Given the description of an element on the screen output the (x, y) to click on. 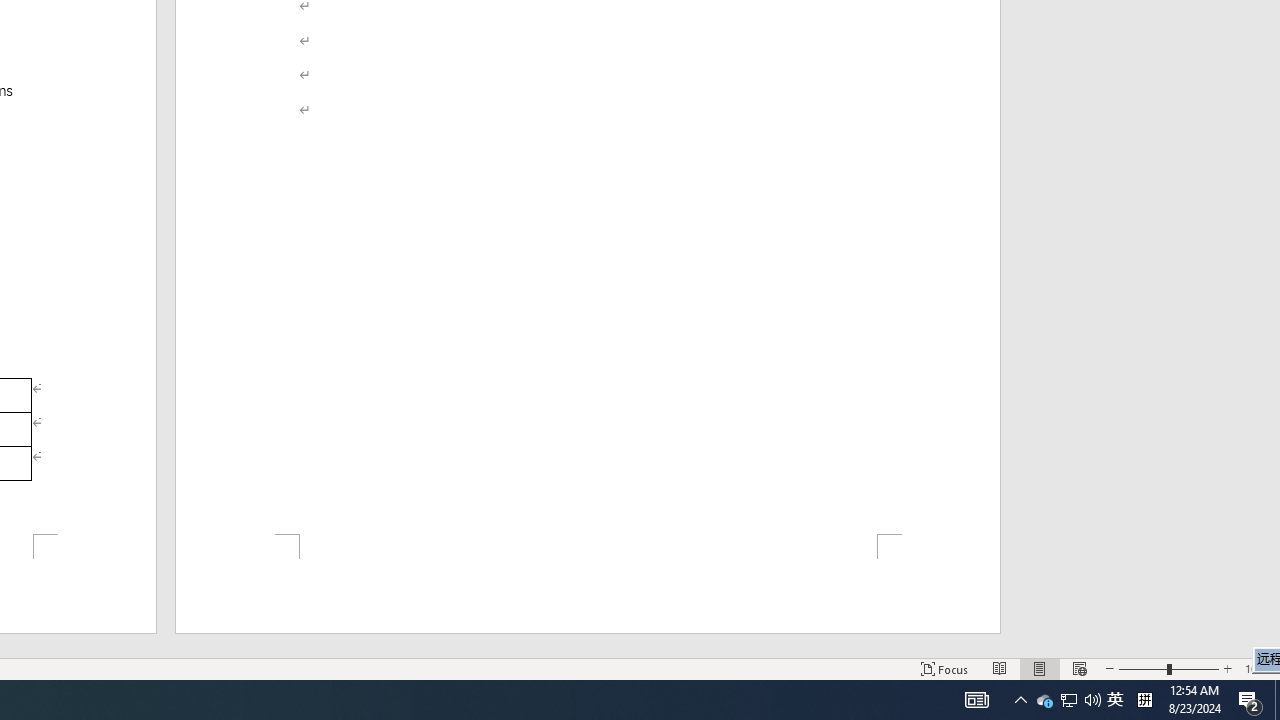
Zoom 104% (1258, 668)
Tray Input Indicator - Chinese (Simplified, China) (1144, 699)
AutomationID: 4105 (976, 699)
Show desktop (1277, 699)
Notification Chevron (1020, 699)
Q2790: 100% (1092, 699)
Action Center, 2 new notifications (1044, 699)
